Given the description of an element on the screen output the (x, y) to click on. 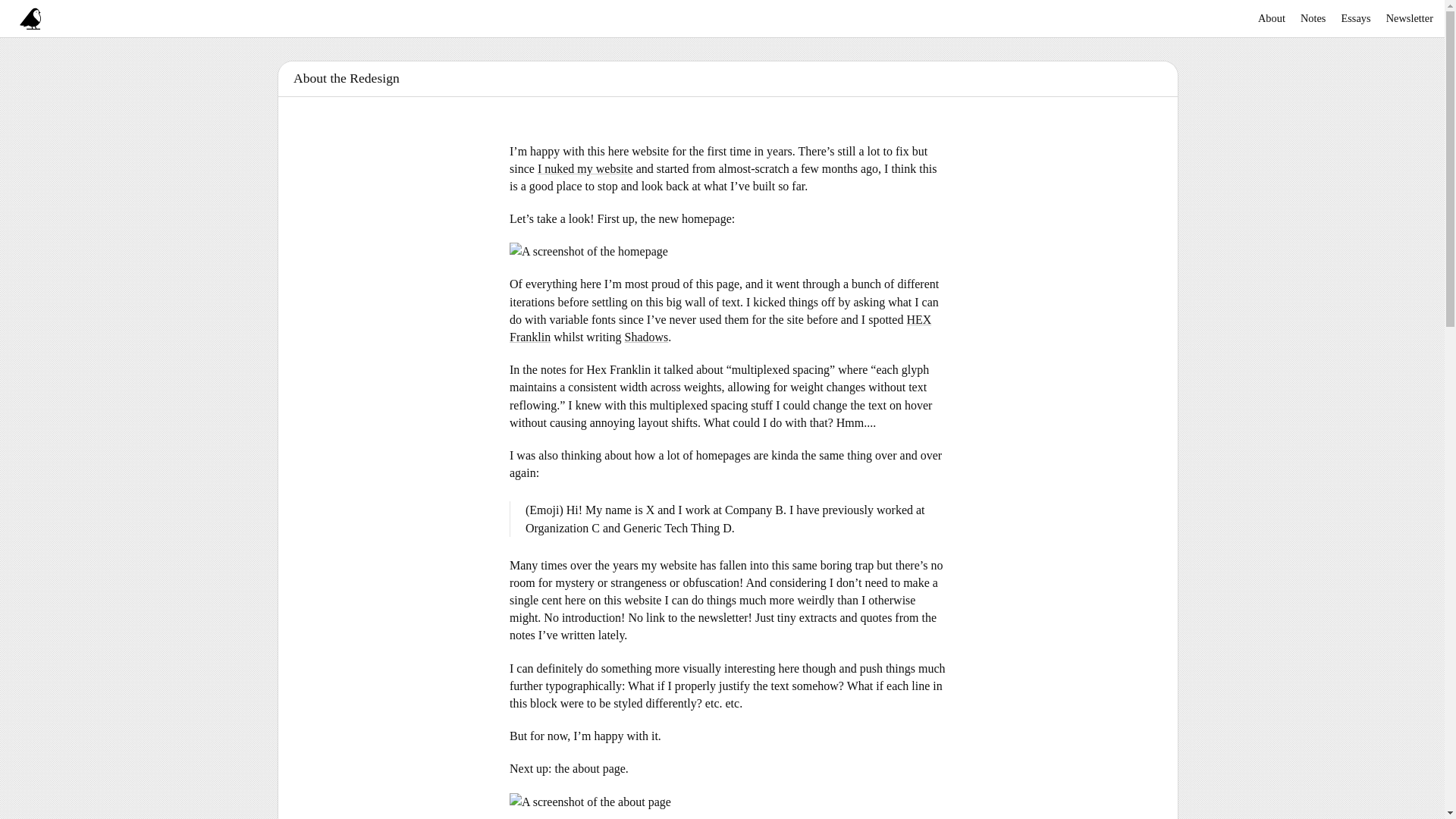
I nuked my website (585, 168)
Shadows (646, 336)
HEX Franklin (720, 327)
Notes (1312, 18)
Newsletter (1409, 18)
About (1271, 18)
Essays (1355, 18)
Home (29, 18)
